Given the description of an element on the screen output the (x, y) to click on. 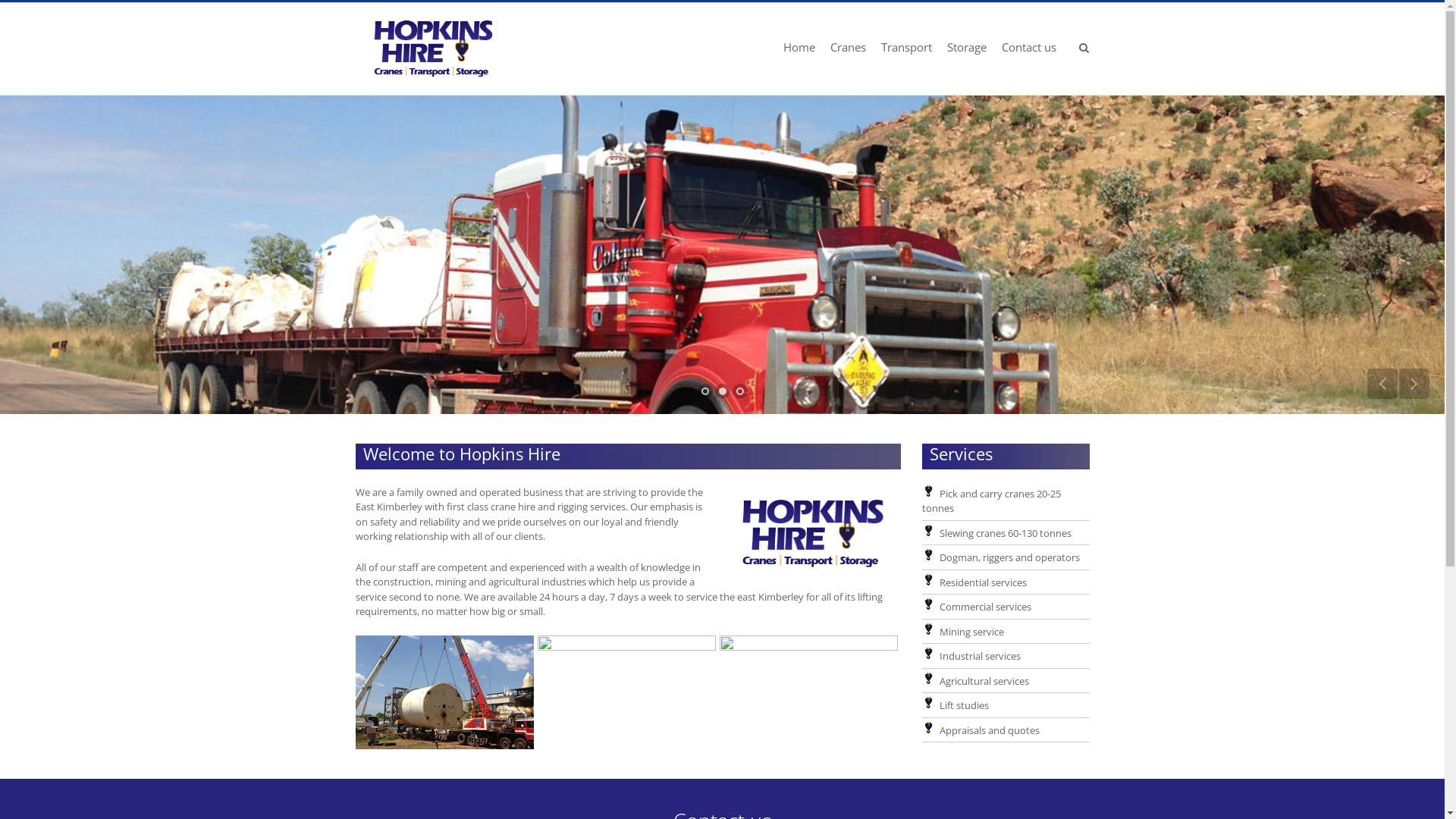
Search Element type: text (1059, 138)
Home Element type: text (798, 51)
  Element type: text (1083, 51)
Cranes Element type: text (847, 51)
Transport Element type: text (906, 51)
Contact us Element type: text (1028, 51)
Storage Element type: text (965, 51)
